Given the description of an element on the screen output the (x, y) to click on. 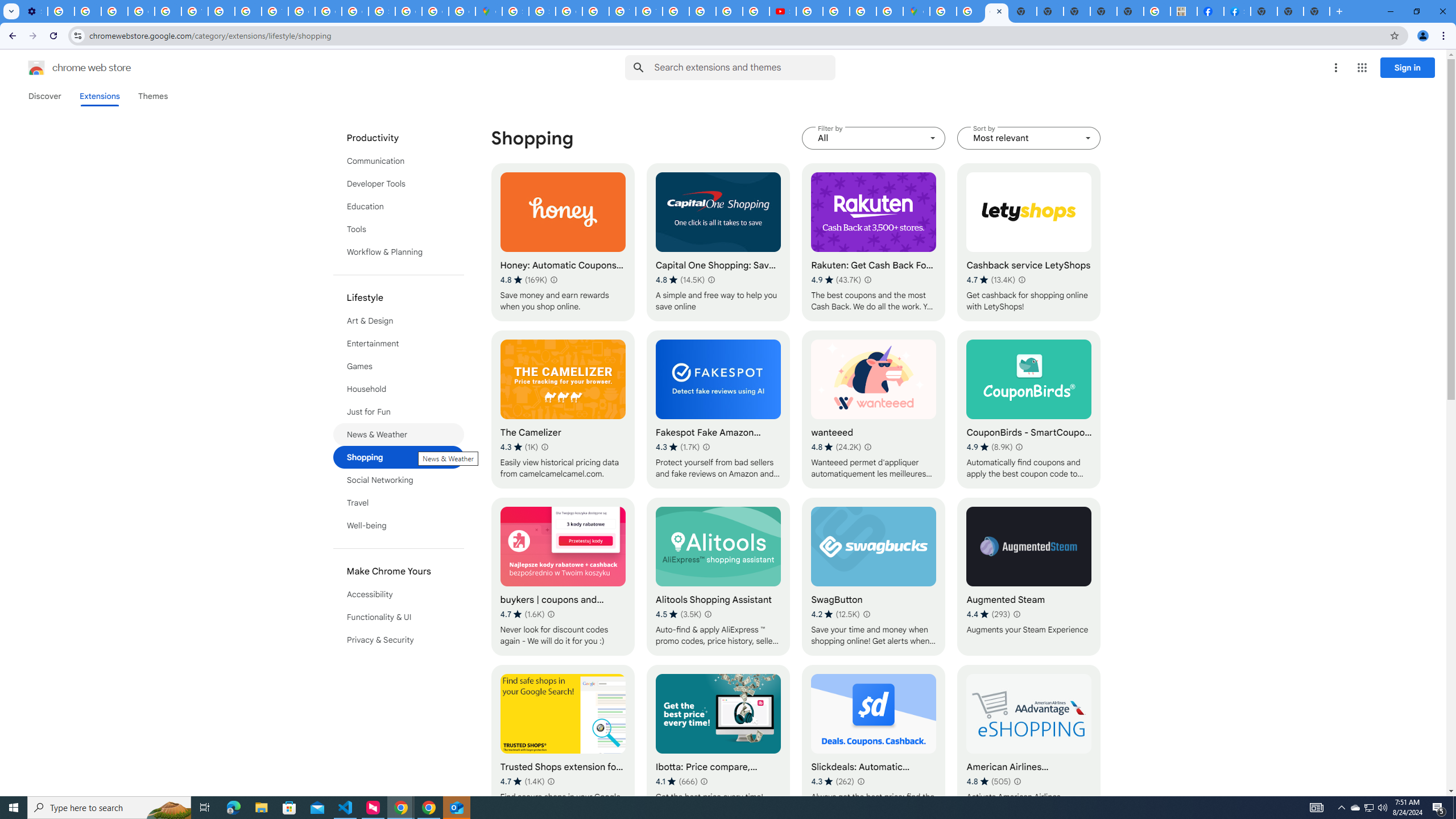
Search input (744, 67)
Just for Fun (398, 411)
More options menu (1335, 67)
YouTube (194, 11)
Household (398, 388)
Privacy Help Center - Policies Help (167, 11)
Sign in - Google Accounts (542, 11)
Accessibility (398, 594)
Average rating 4.3 out of 5 stars. 1K ratings. (518, 446)
Learn more about results and reviews "wanteeed" (866, 446)
News & Weather (398, 434)
